Given the description of an element on the screen output the (x, y) to click on. 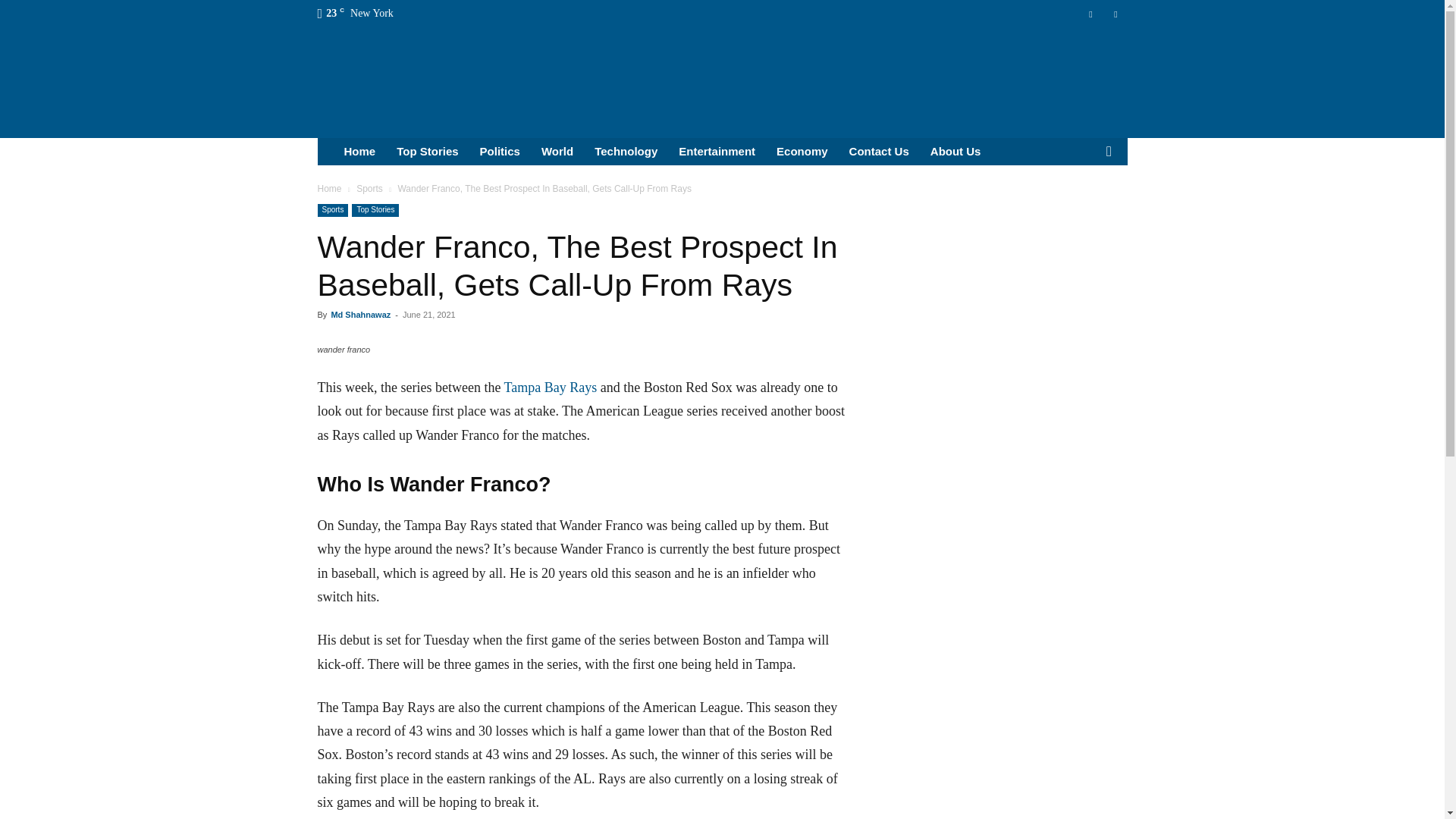
Top Stories (375, 210)
About Us (955, 151)
View all posts in Sports (369, 188)
Md Shahnawaz (360, 314)
Technology (625, 151)
Search (1085, 207)
Tampa Bay Rays (549, 387)
Top Stories (426, 151)
Economy (801, 151)
Home (328, 188)
